Given the description of an element on the screen output the (x, y) to click on. 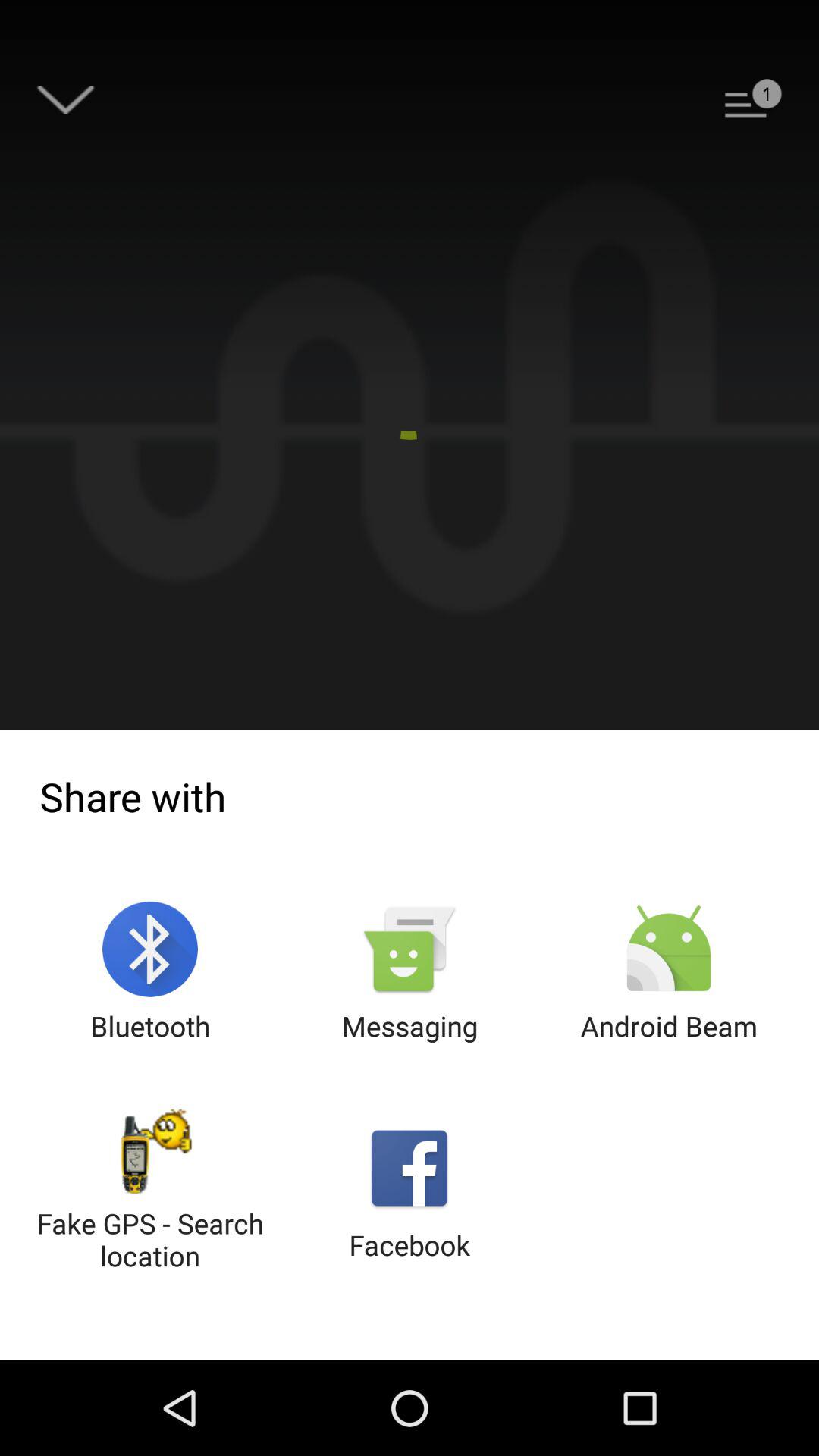
choose the icon next to bluetooth item (409, 972)
